Given the description of an element on the screen output the (x, y) to click on. 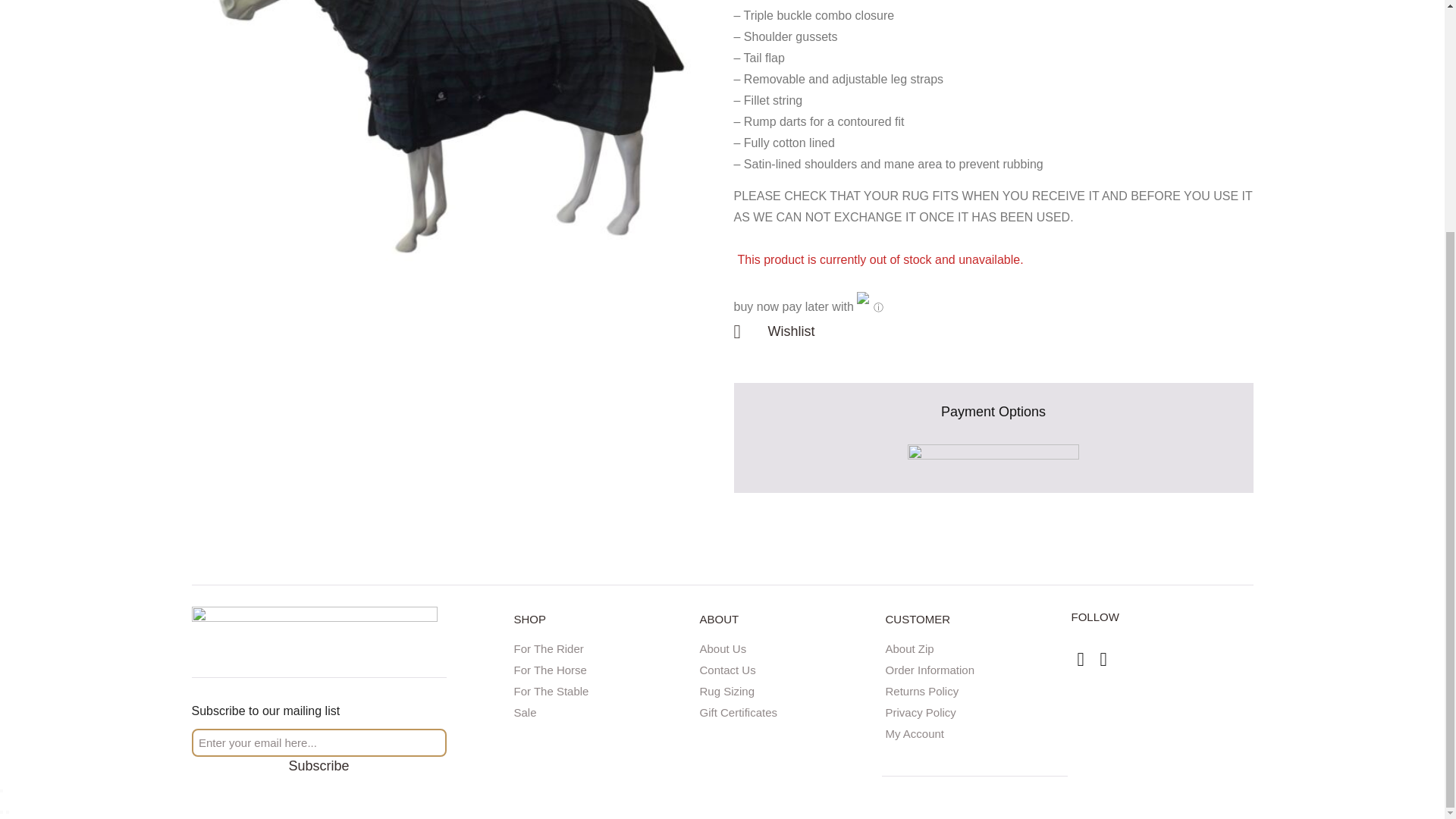
Subscribe (318, 766)
